Given the description of an element on the screen output the (x, y) to click on. 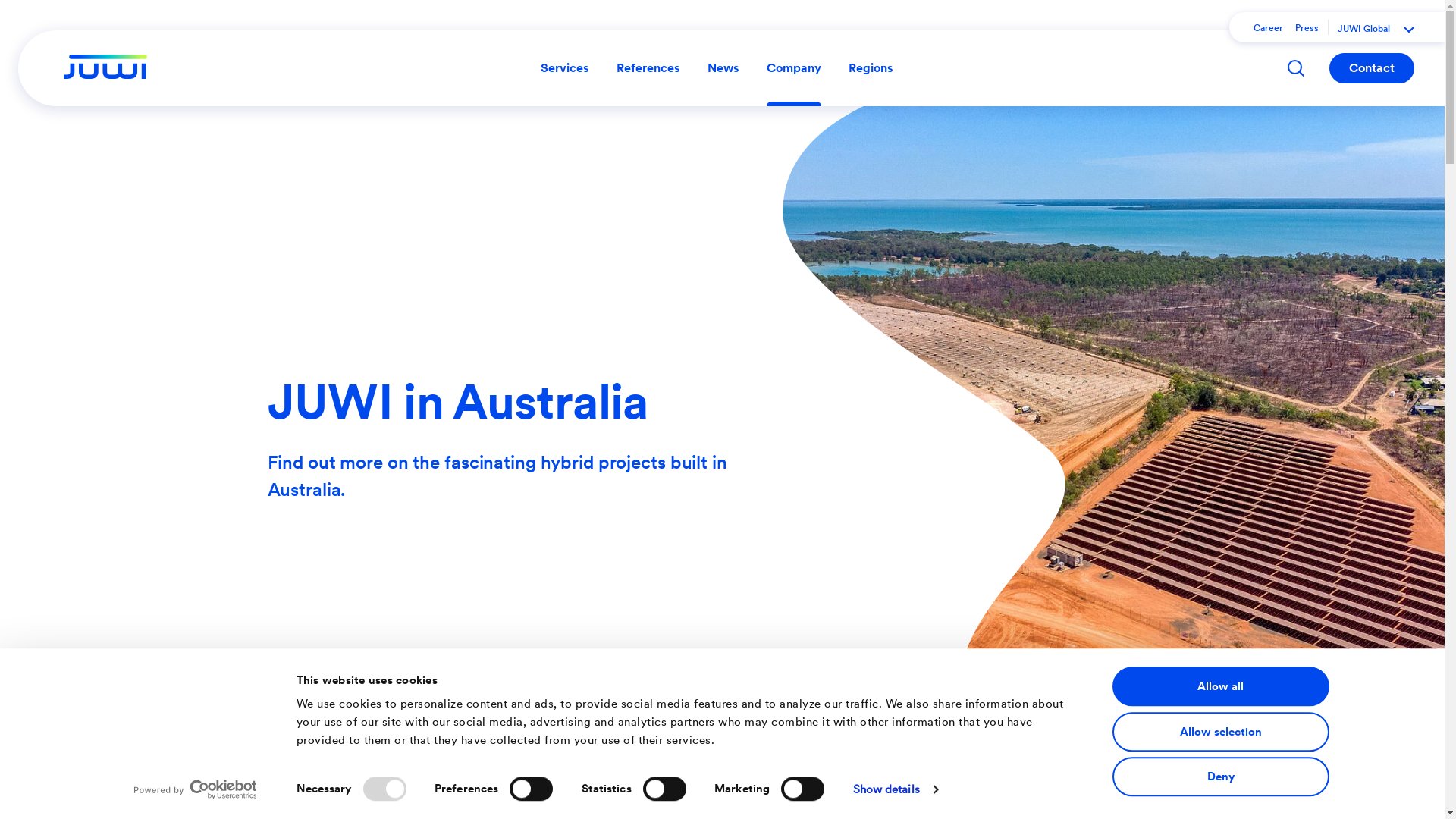
Allow all Element type: text (1219, 686)
Allow selection Element type: text (1219, 731)
Deny Element type: text (1219, 776)
References Element type: text (648, 67)
Career Element type: text (1268, 27)
Press Element type: text (1306, 27)
Show details Element type: text (895, 789)
